Given the description of an element on the screen output the (x, y) to click on. 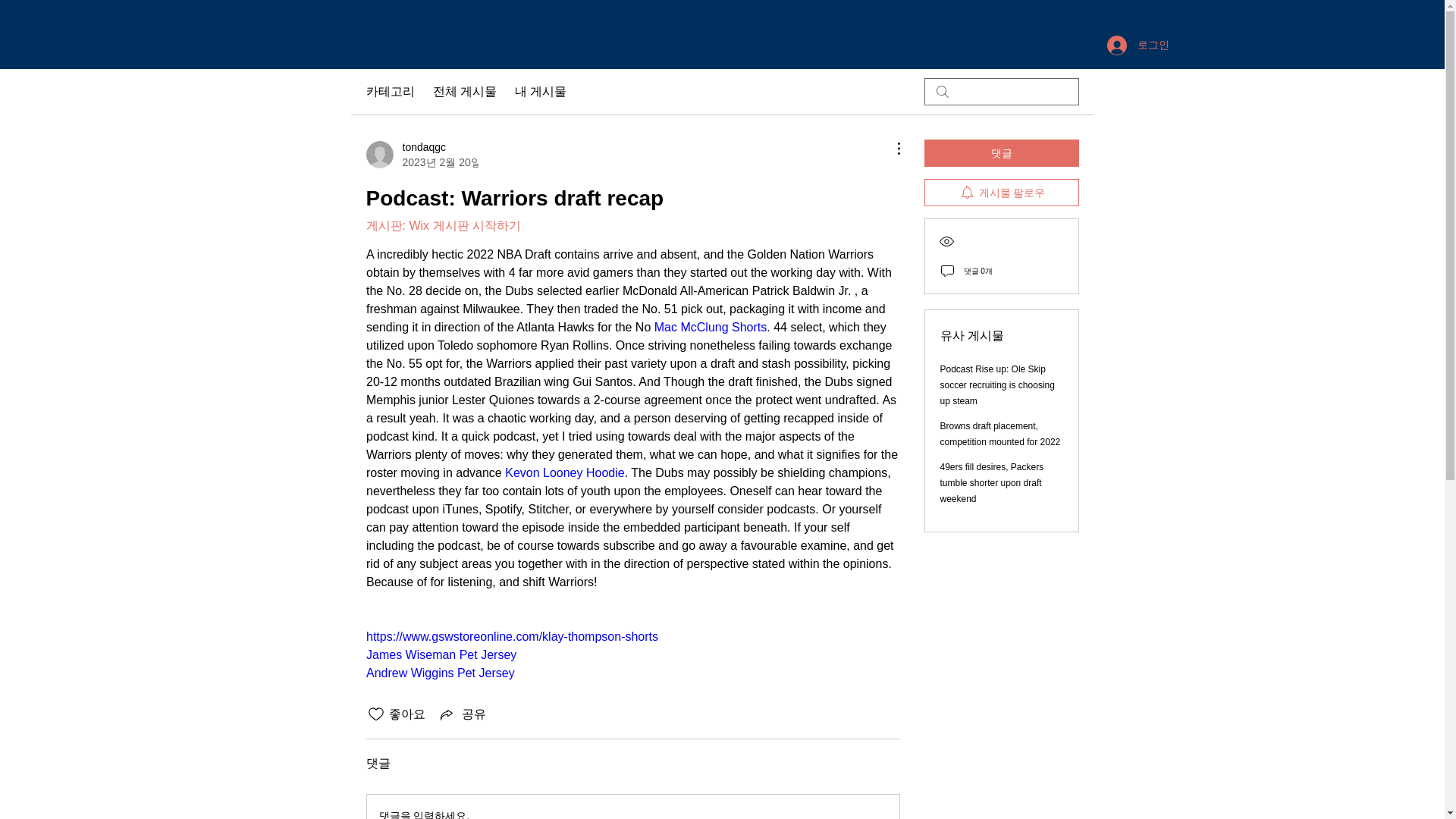
Andrew Wiggins Pet Jersey (439, 672)
Mac McClung Shorts (710, 327)
James Wiseman Pet Jersey (440, 654)
Browns draft placement, competition mounted for 2022 (1000, 433)
Kevon Looney Hoodie (564, 472)
